Given the description of an element on the screen output the (x, y) to click on. 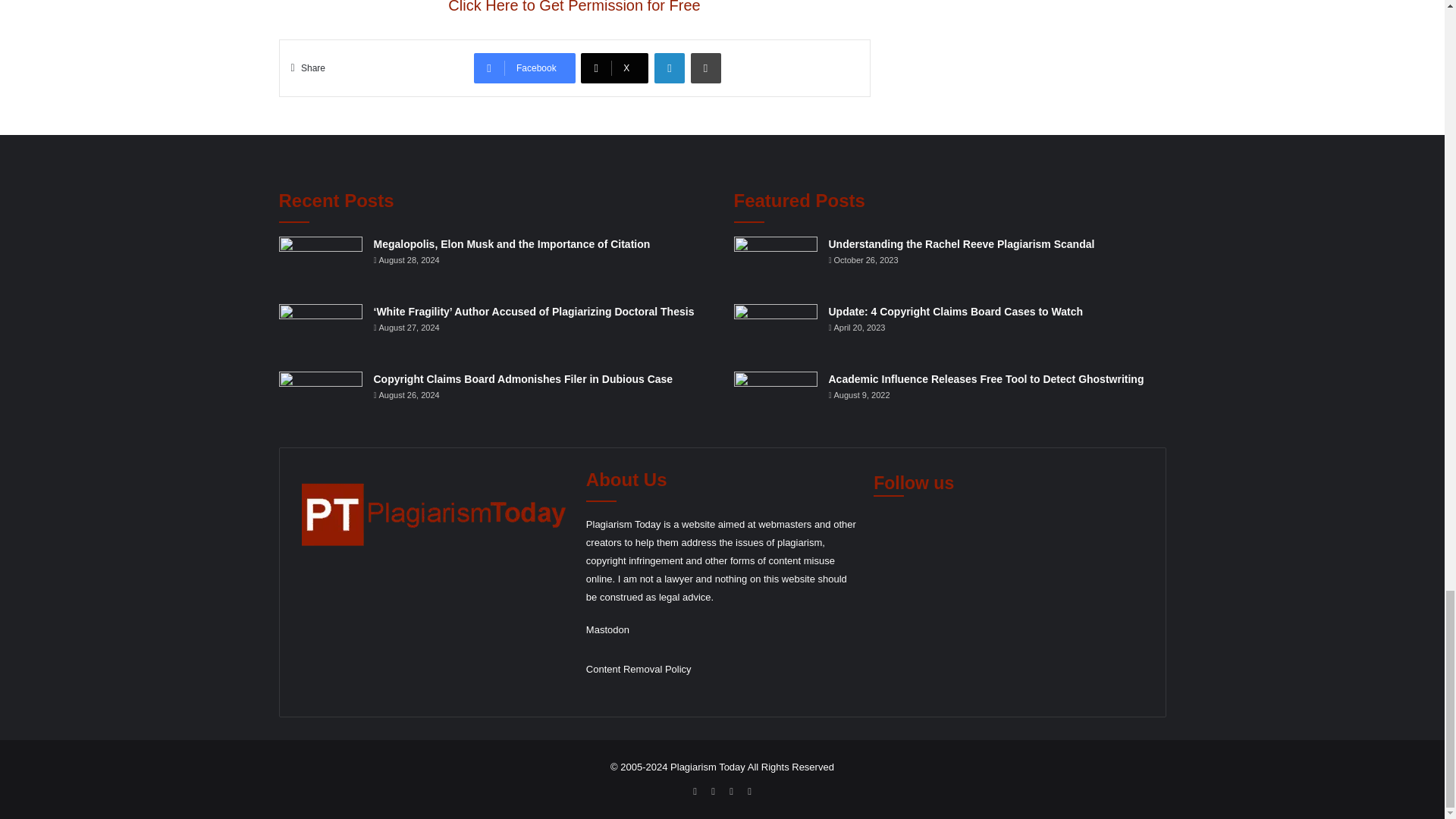
Click Here to Get Permission for Free (574, 6)
LinkedIn (668, 68)
Facebook (524, 68)
Print (705, 68)
Print (705, 68)
LinkedIn (668, 68)
X (613, 68)
X (613, 68)
Facebook (524, 68)
